Given the description of an element on the screen output the (x, y) to click on. 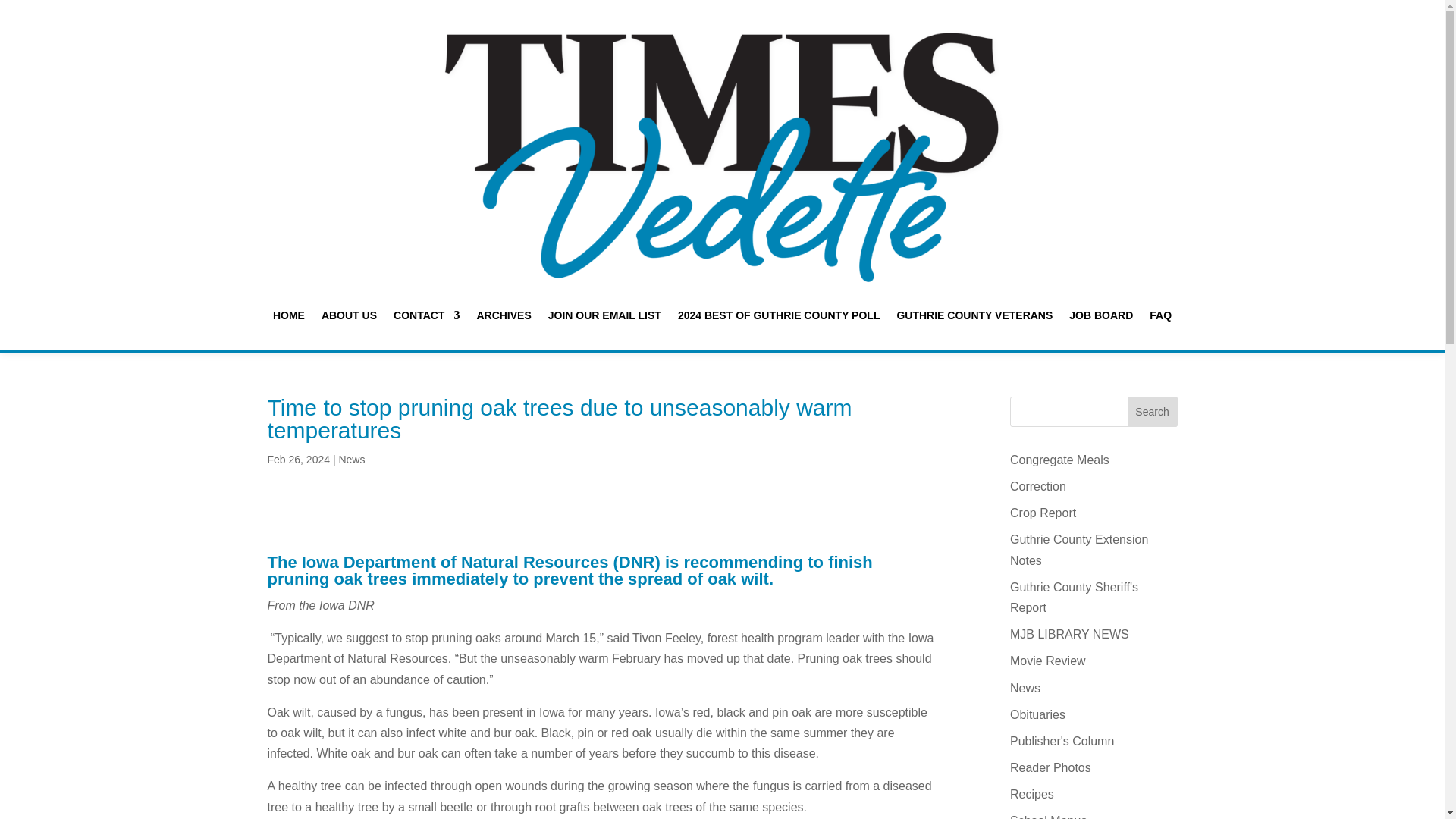
Congregate Meals (1059, 459)
ARCHIVES (503, 314)
JOIN OUR EMAIL LIST (604, 314)
Correction (1037, 486)
Search (1151, 411)
Guthrie County Extension Notes (1079, 549)
ABOUT US (349, 314)
News (351, 459)
CONTACT (426, 314)
Search (1151, 411)
Crop Report (1042, 512)
HOME (288, 314)
FAQ (1161, 314)
JOB BOARD (1100, 314)
2024 BEST OF GUTHRIE COUNTY POLL (779, 314)
